Given the description of an element on the screen output the (x, y) to click on. 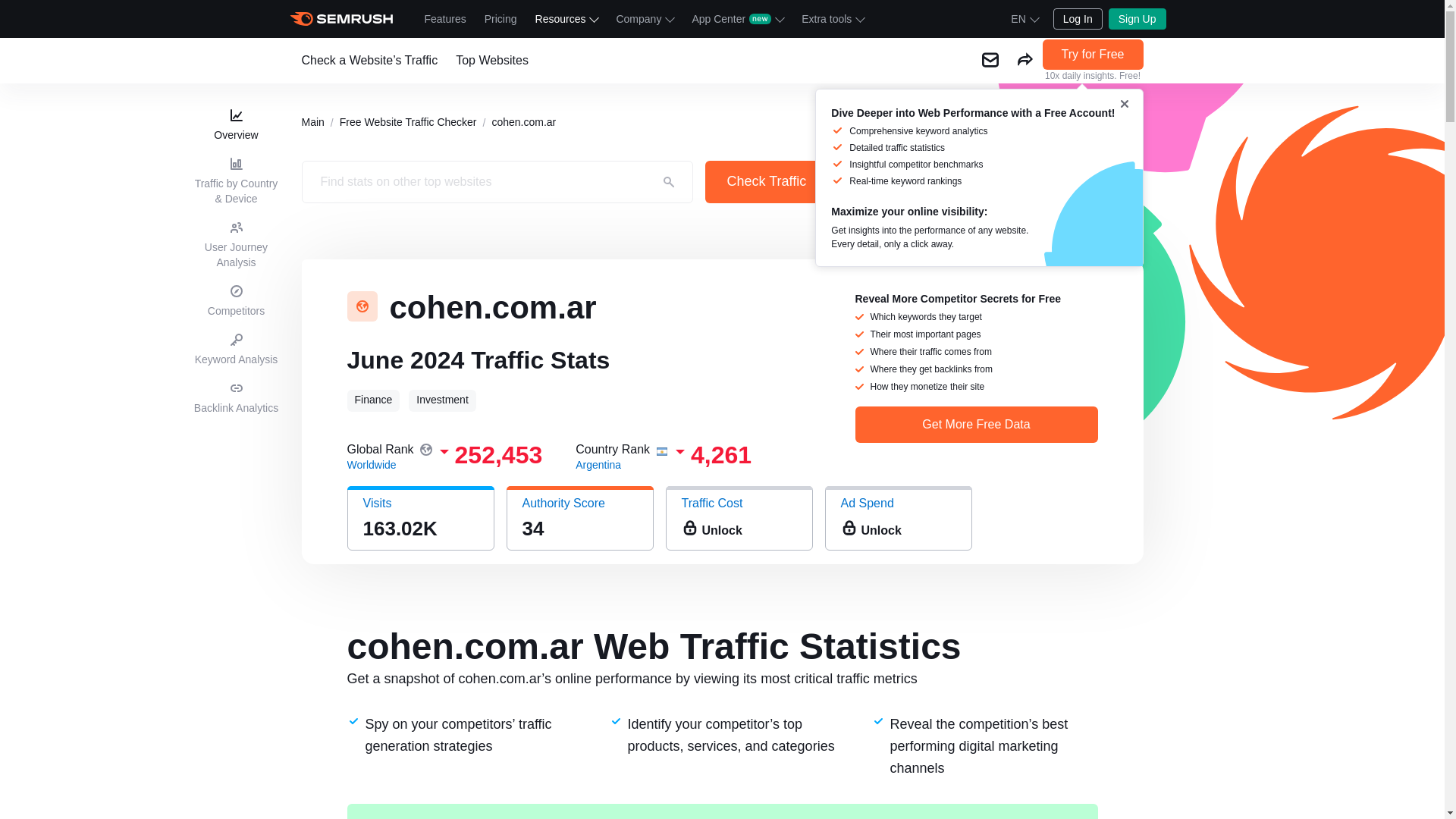
App Center (737, 18)
Resources (566, 18)
Pricing (500, 18)
Features (445, 18)
Extra tools (832, 18)
Company (644, 18)
